Given the description of an element on the screen output the (x, y) to click on. 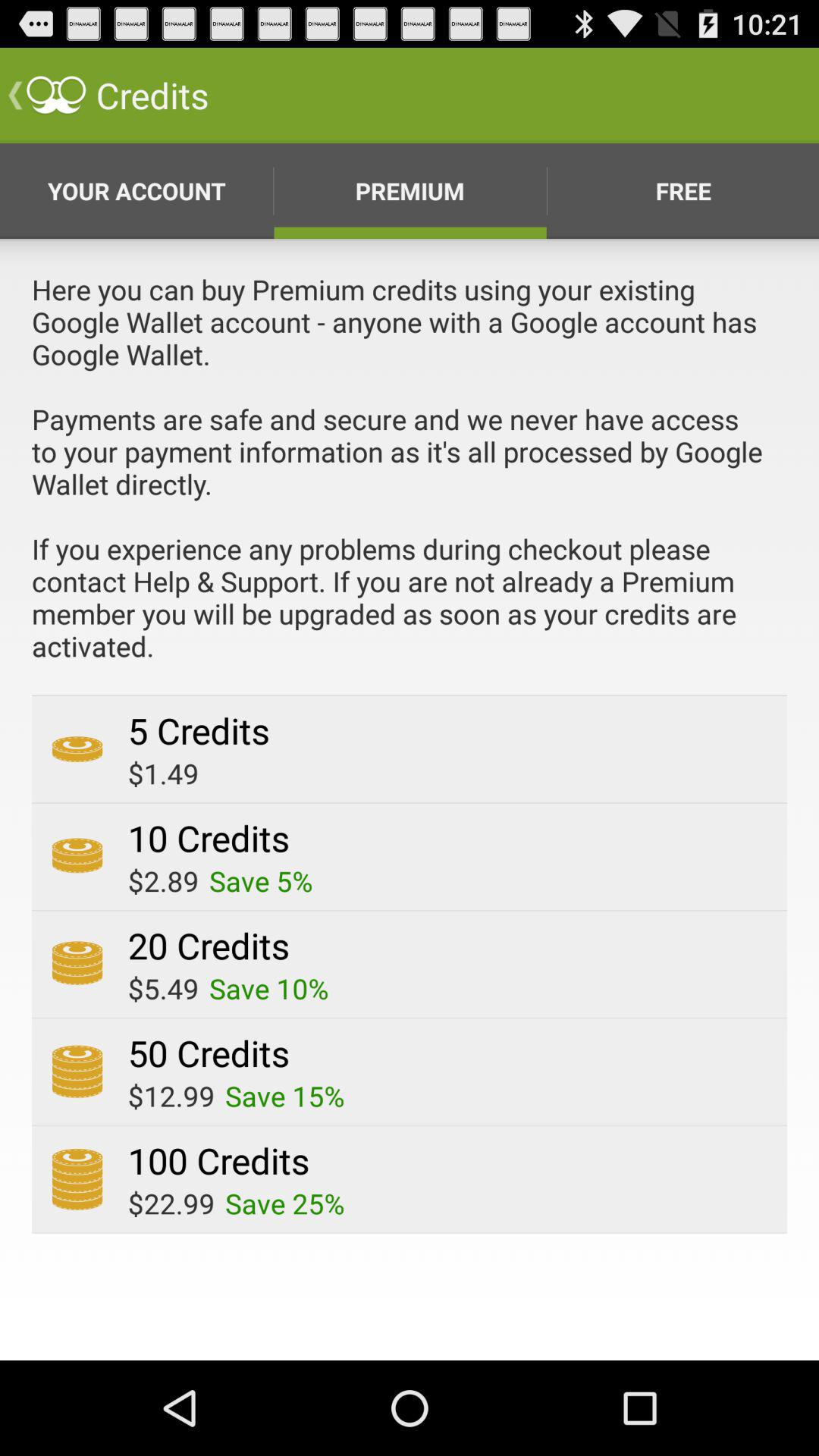
flip until the save 25% item (284, 1203)
